Given the description of an element on the screen output the (x, y) to click on. 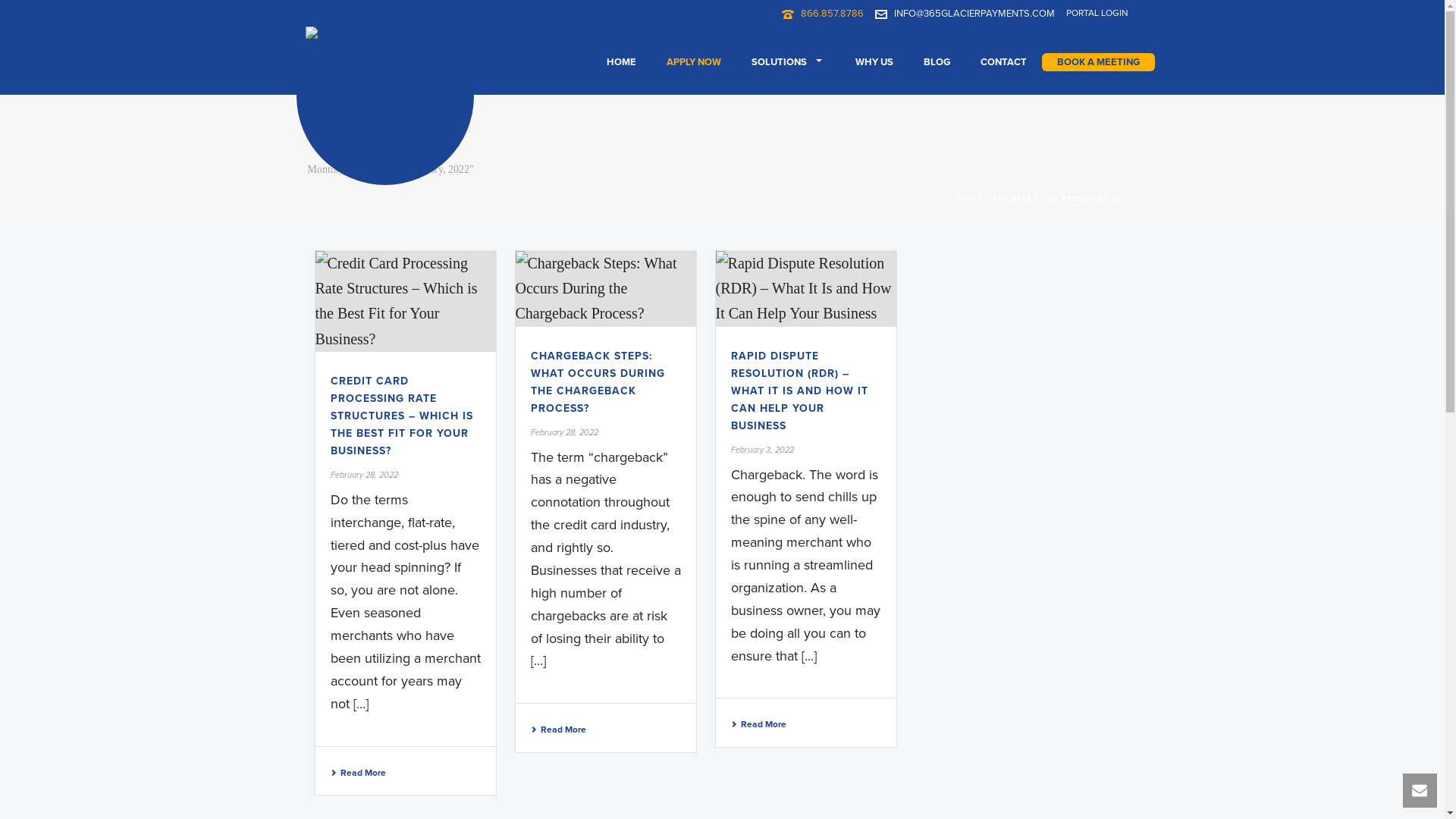
CHARGEBACK STEPS: WHAT OCCURS DURING THE CHARGEBACK PROCESS? Element type: text (597, 382)
Read More Element type: text (558, 729)
WHY US Element type: text (874, 62)
BLOG Element type: text (936, 62)
HOME Element type: text (621, 62)
Read More Element type: text (758, 724)
February 28, 2022 Element type: text (564, 432)
CONTACT Element type: text (1002, 62)
  Element type: text (805, 288)
Read More Element type: text (357, 772)
  Element type: text (605, 288)
PORTAL LOGIN Element type: text (1097, 12)
Chargeback Steps: What Occurs During the Chargeback Process? Element type: hover (605, 288)
BOOK A MEETING Element type: text (1097, 62)
HOME Element type: text (969, 197)
866.857.8786 Element type: text (831, 13)
February 28, 2022 Element type: text (364, 474)
Your Solution For Payment Processing Element type: hover (384, 96)
February 3, 2022 Element type: text (762, 449)
INFO@365GLACIERPAYMENTS.COM Element type: text (973, 13)
  Element type: text (405, 301)
APPLY NOW Element type: text (692, 62)
SOLUTIONS Element type: text (787, 62)
